Given the description of an element on the screen output the (x, y) to click on. 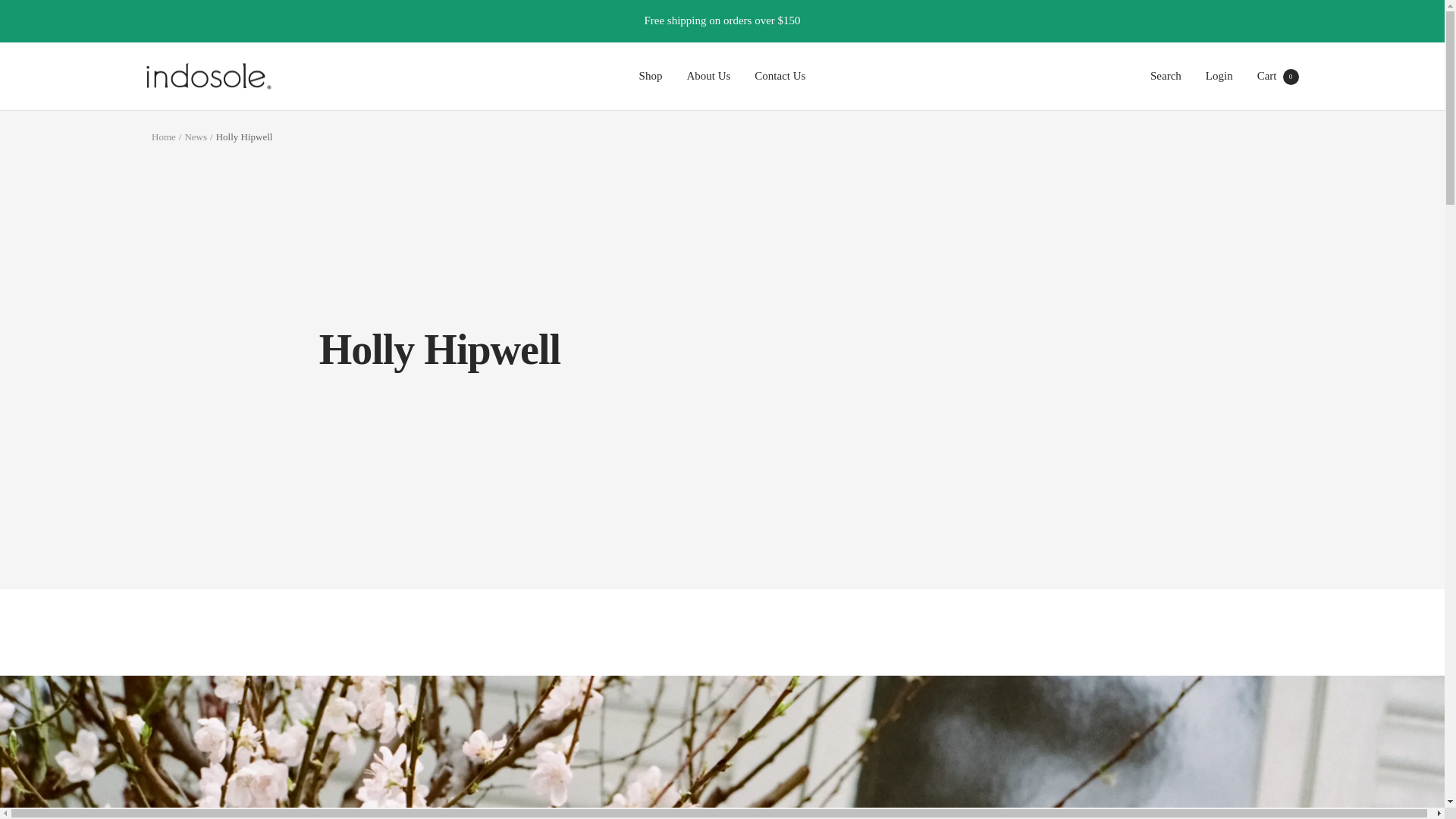
Home (163, 136)
About Us (707, 76)
Login (1219, 75)
News (195, 136)
Indosole Australia (207, 76)
Contact Us (779, 76)
Shop (1277, 75)
Search (650, 76)
